Given the description of an element on the screen output the (x, y) to click on. 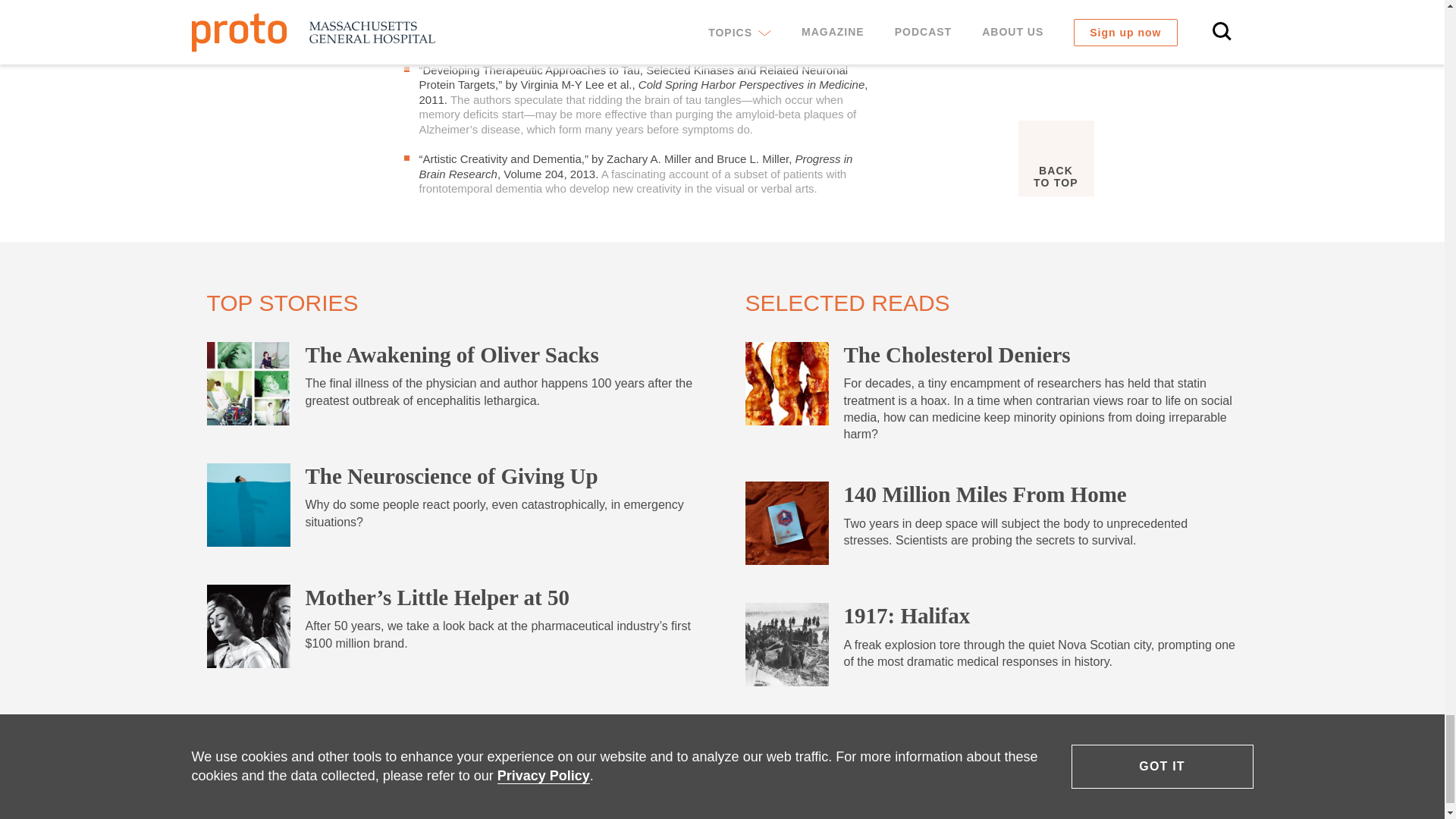
Proto Magazine (311, 781)
